Given the description of an element on the screen output the (x, y) to click on. 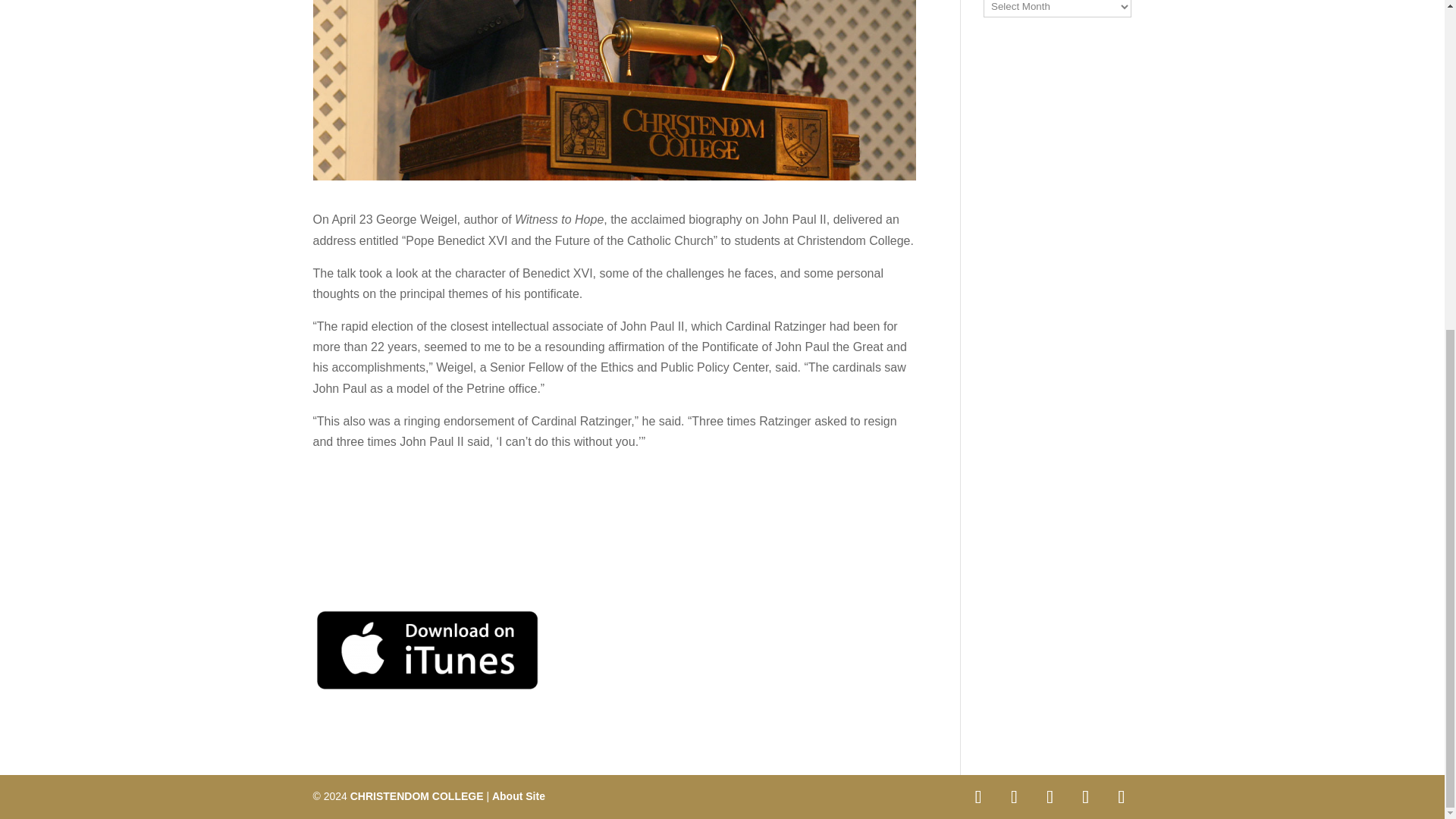
About Site (518, 796)
CHRISTENDOM COLLEGE (416, 796)
